Given the description of an element on the screen output the (x, y) to click on. 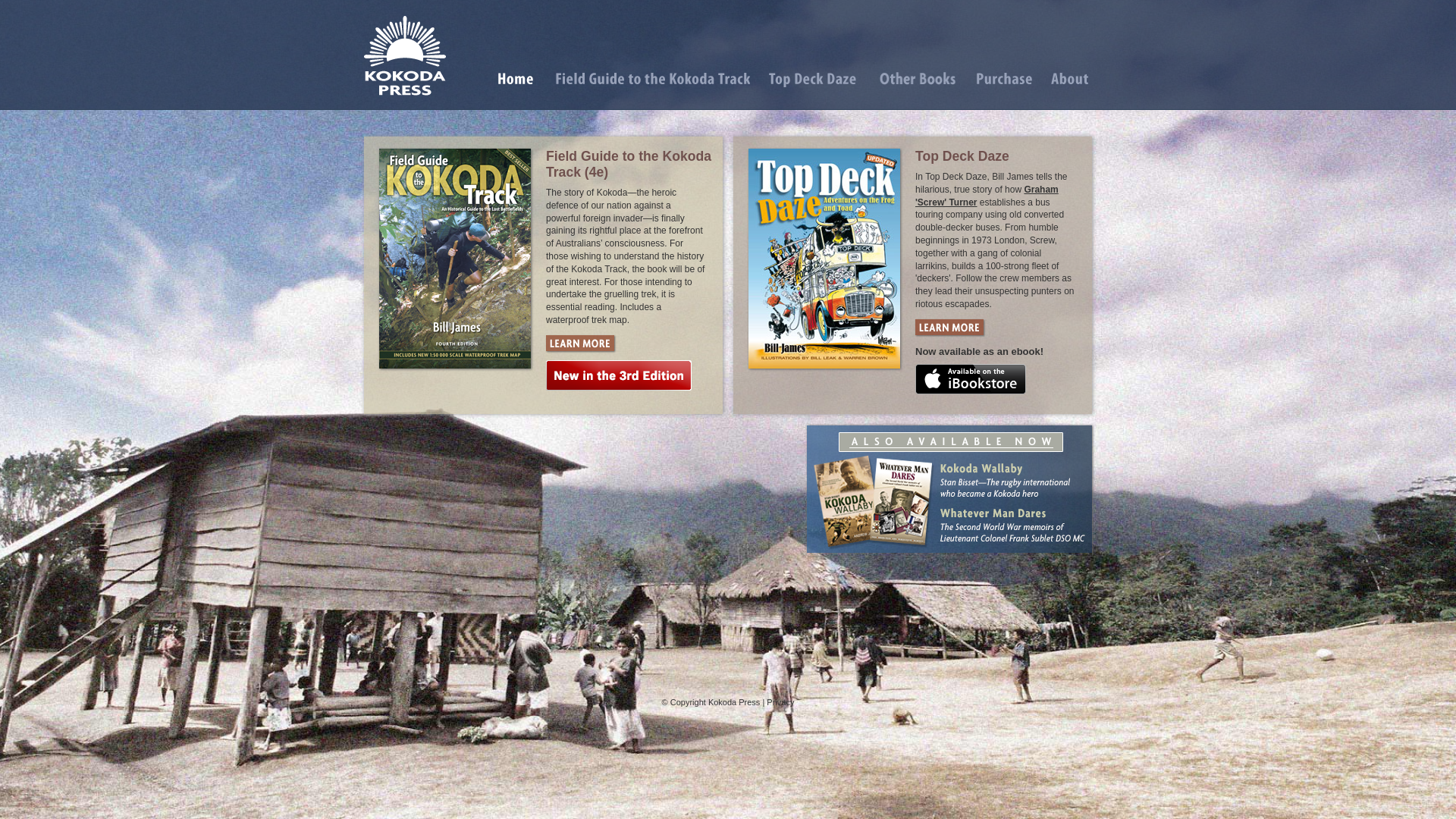
Graham 'Screw' Turner Element type: text (986, 195)
Privacy Element type: text (779, 701)
